Given the description of an element on the screen output the (x, y) to click on. 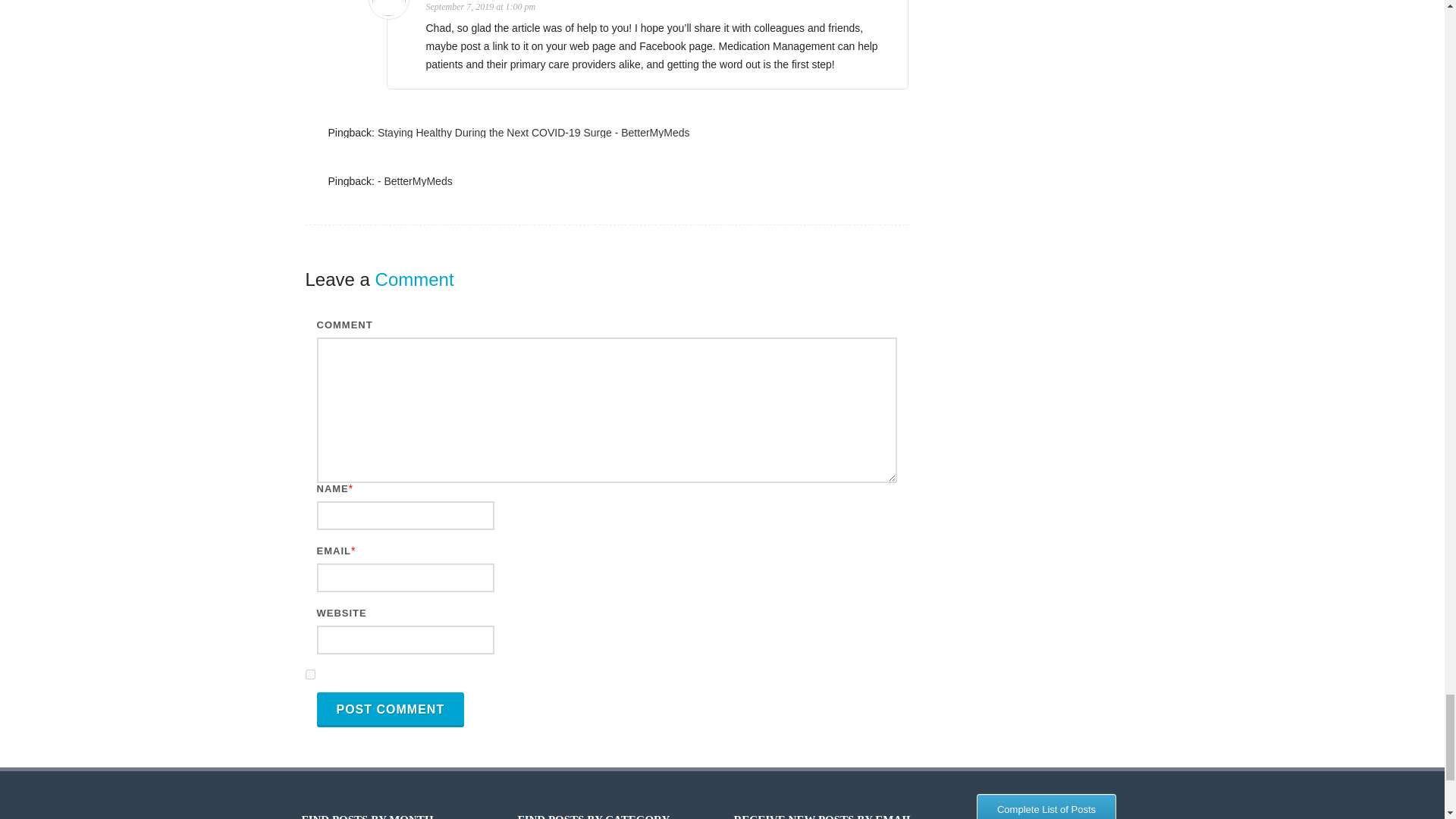
Post Comment (390, 709)
yes (309, 674)
